Given the description of an element on the screen output the (x, y) to click on. 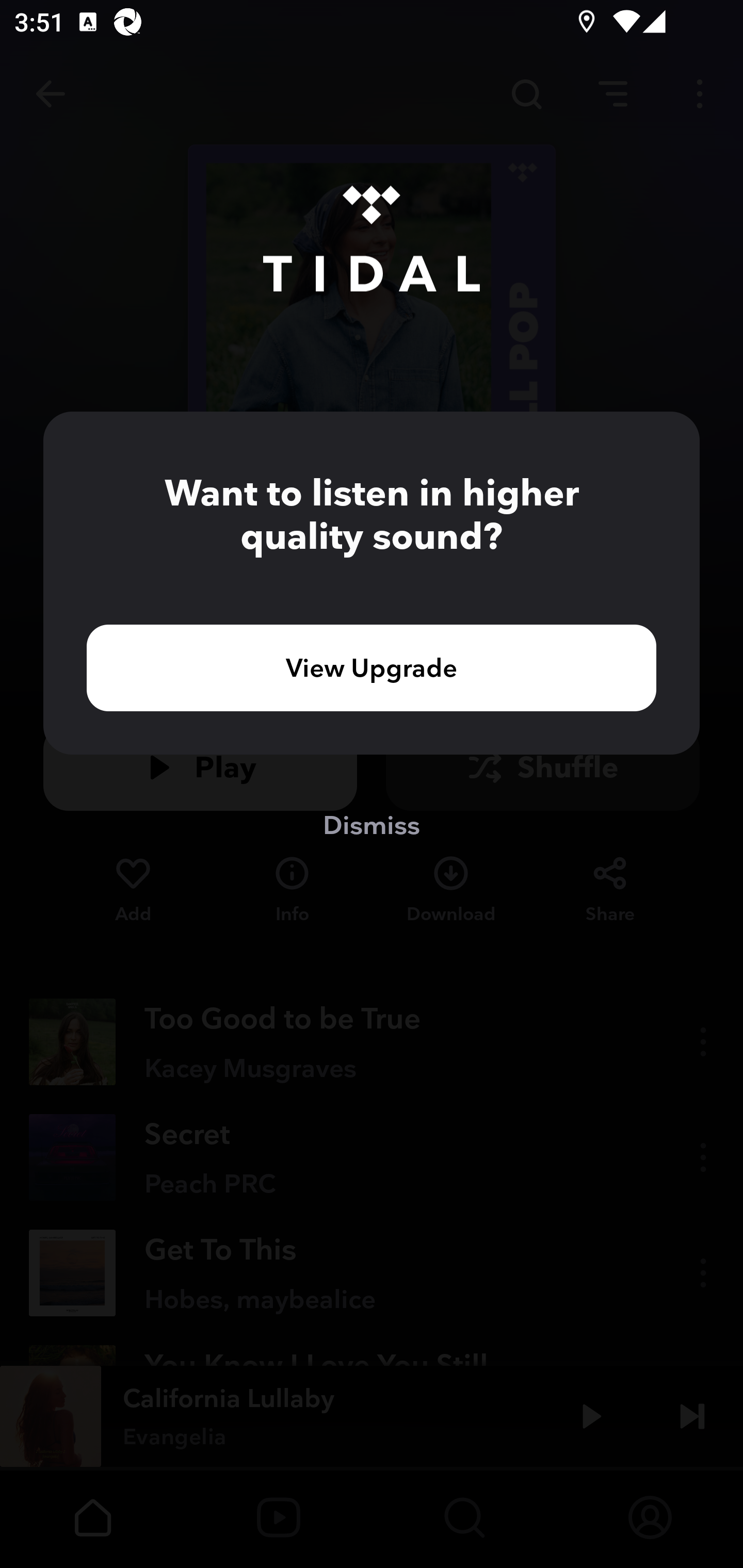
View Upgrade (371, 667)
Dismiss (371, 824)
